Given the description of an element on the screen output the (x, y) to click on. 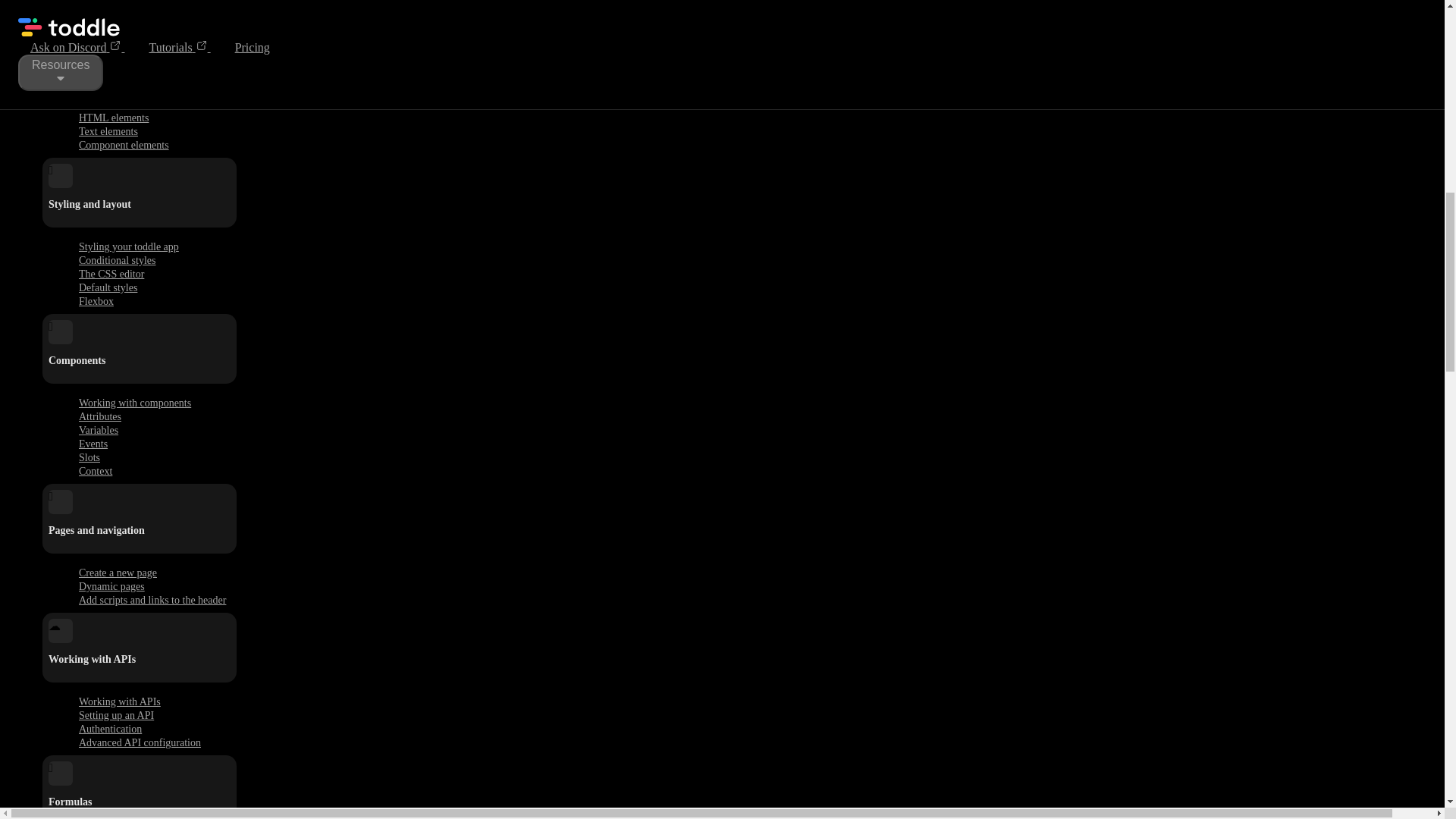
The CSS editor (110, 273)
The project sidebar (119, 7)
Text elements (108, 131)
Conditional styles (116, 259)
Work with elements (121, 104)
Flexbox (95, 300)
Styling your toddle app (128, 246)
HTML elements (113, 117)
Component elements (123, 145)
Working with components (134, 402)
Default styles (107, 287)
Variables (97, 430)
Attributes (100, 416)
